Given the description of an element on the screen output the (x, y) to click on. 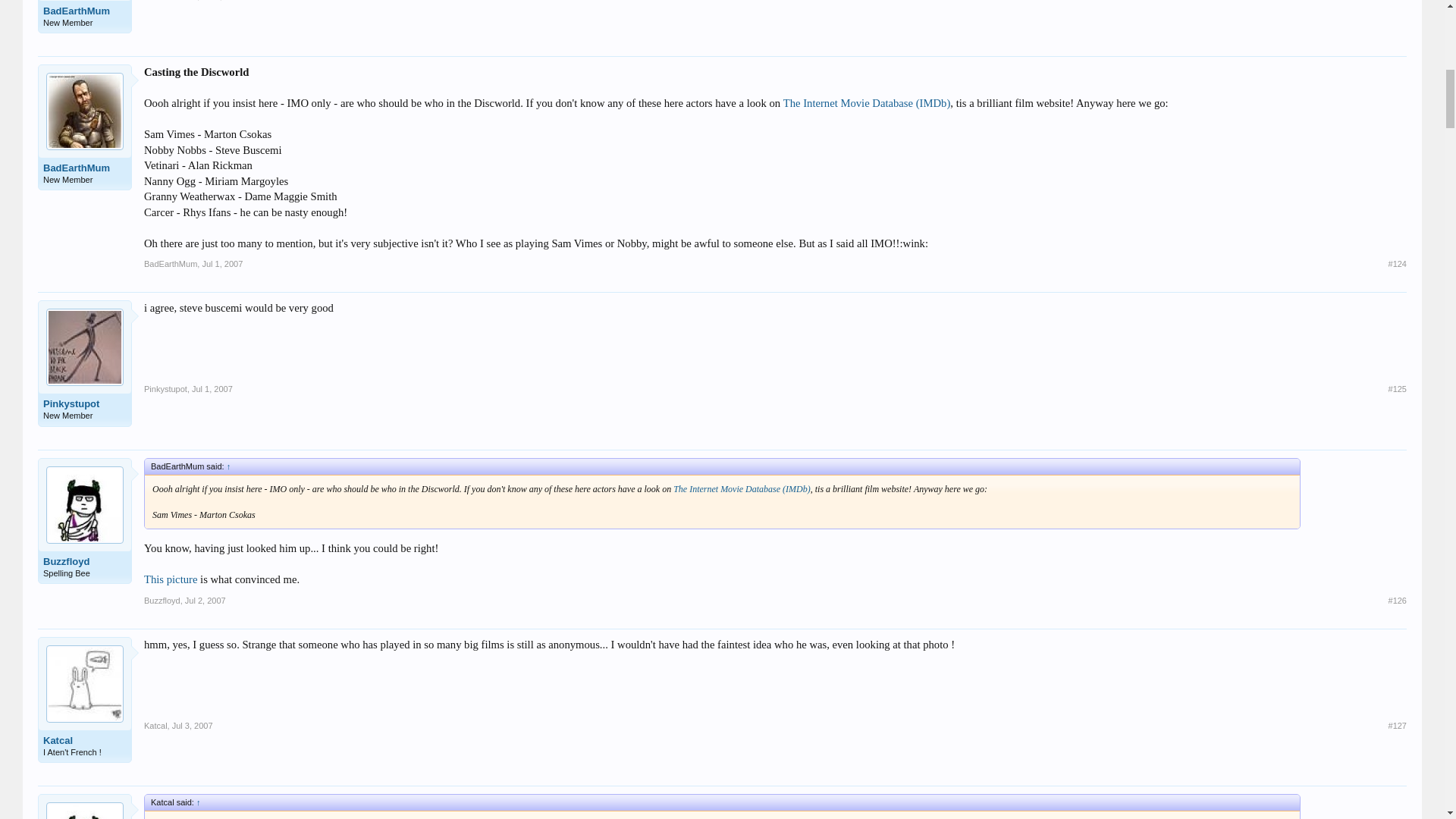
BadEarthMum (84, 168)
BadEarthMum (170, 0)
Jul 1, 2007 (222, 0)
Permalink (212, 388)
Permalink (222, 0)
Jul 1, 2007 (222, 263)
BadEarthMum (84, 10)
Permalink (204, 600)
Pinkystupot (84, 404)
BadEarthMum (170, 263)
Permalink (1397, 388)
Pinkystupot (165, 388)
Permalink (1397, 263)
Permalink (222, 263)
